Given the description of an element on the screen output the (x, y) to click on. 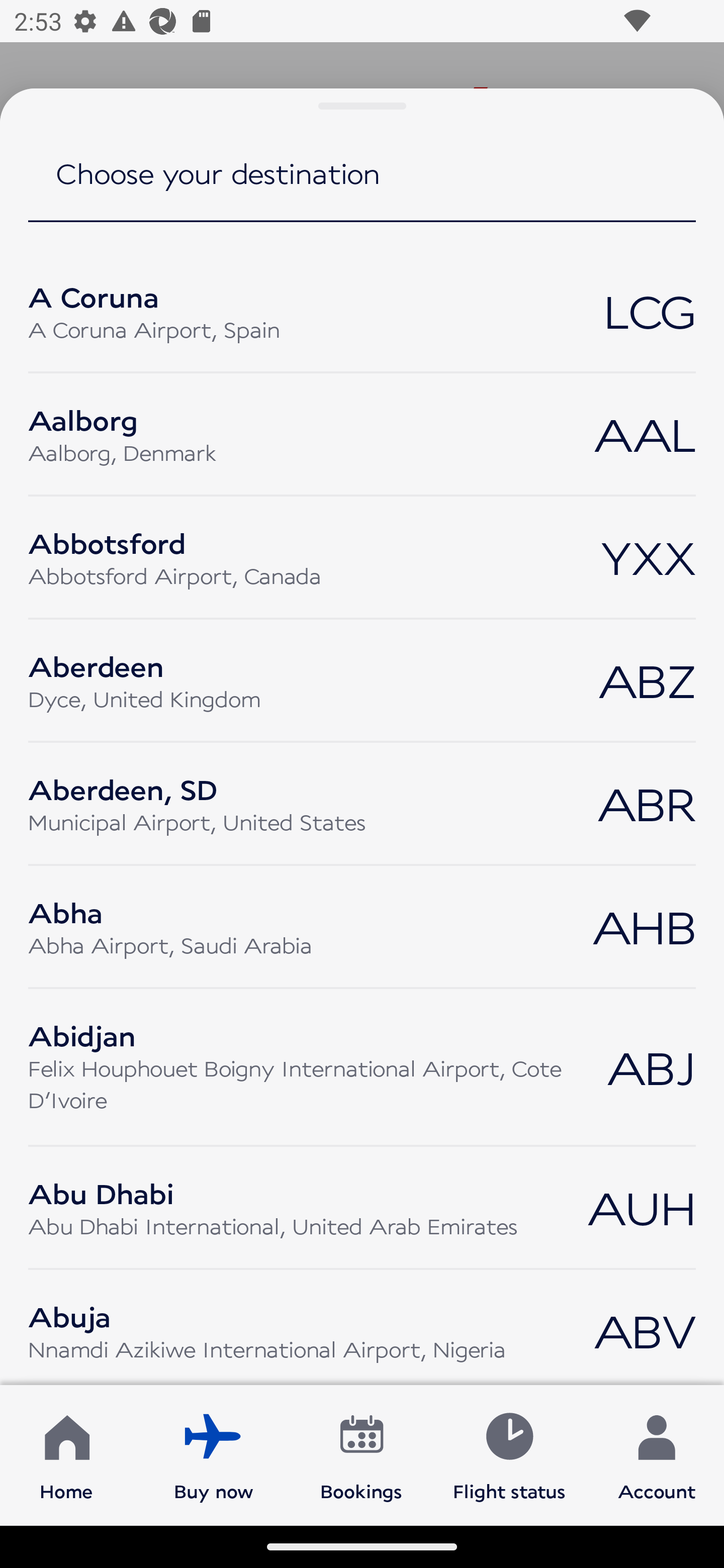
Choose your destination (361, 186)
A Coruna A Coruna Airport, Spain LCG (361, 310)
Aalborg Aalborg, Denmark AAL (361, 434)
Abbotsford Abbotsford Airport, Canada YXX (361, 556)
Aberdeen Dyce, United Kingdom ABZ (361, 680)
Aberdeen, SD Municipal Airport, United States ABR (361, 803)
Abha Abha Airport, Saudi Arabia AHB (361, 926)
Home (66, 1454)
Bookings (361, 1454)
Flight status (509, 1454)
Account (657, 1454)
